Given the description of an element on the screen output the (x, y) to click on. 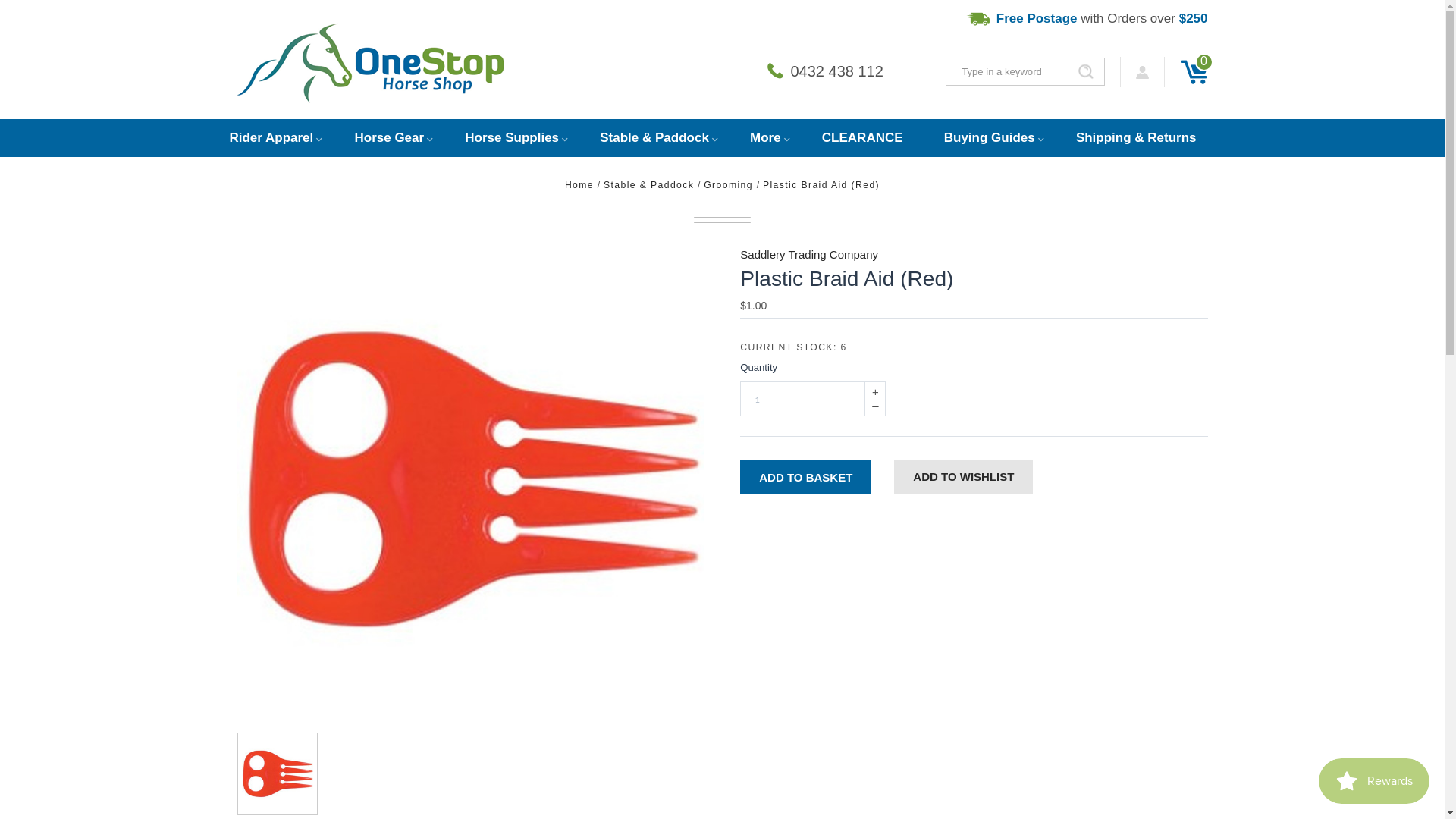
More Element type: text (765, 137)
ADD TO WISHLIST Element type: text (963, 476)
Rider Apparel Element type: text (280, 137)
0 Element type: text (1193, 71)
Plastic Braid Aid (Red) Element type: hover (277, 773)
Saddlery Trading Company Element type: text (809, 253)
Buying Guides Element type: text (989, 137)
Grooming Element type: text (729, 184)
CLEARANCE Element type: text (862, 137)
Horse Supplies Element type: text (511, 137)
Stable & Paddock Element type: text (654, 137)
+ Element type: text (874, 391)
Shipping & Returns Element type: text (1136, 137)
0432 438 112 Element type: text (824, 70)
Horse Gear Element type: text (388, 137)
Plastic Braid Aid (Red) Element type: hover (470, 479)
Home Element type: text (580, 184)
Stable & Paddock Element type: text (650, 184)
ADD TO BASKET Element type: text (805, 476)
Smile.io Rewards Program Launcher Element type: hover (1373, 780)
Plastic Braid Aid (Red) Element type: text (820, 184)
